Given the description of an element on the screen output the (x, y) to click on. 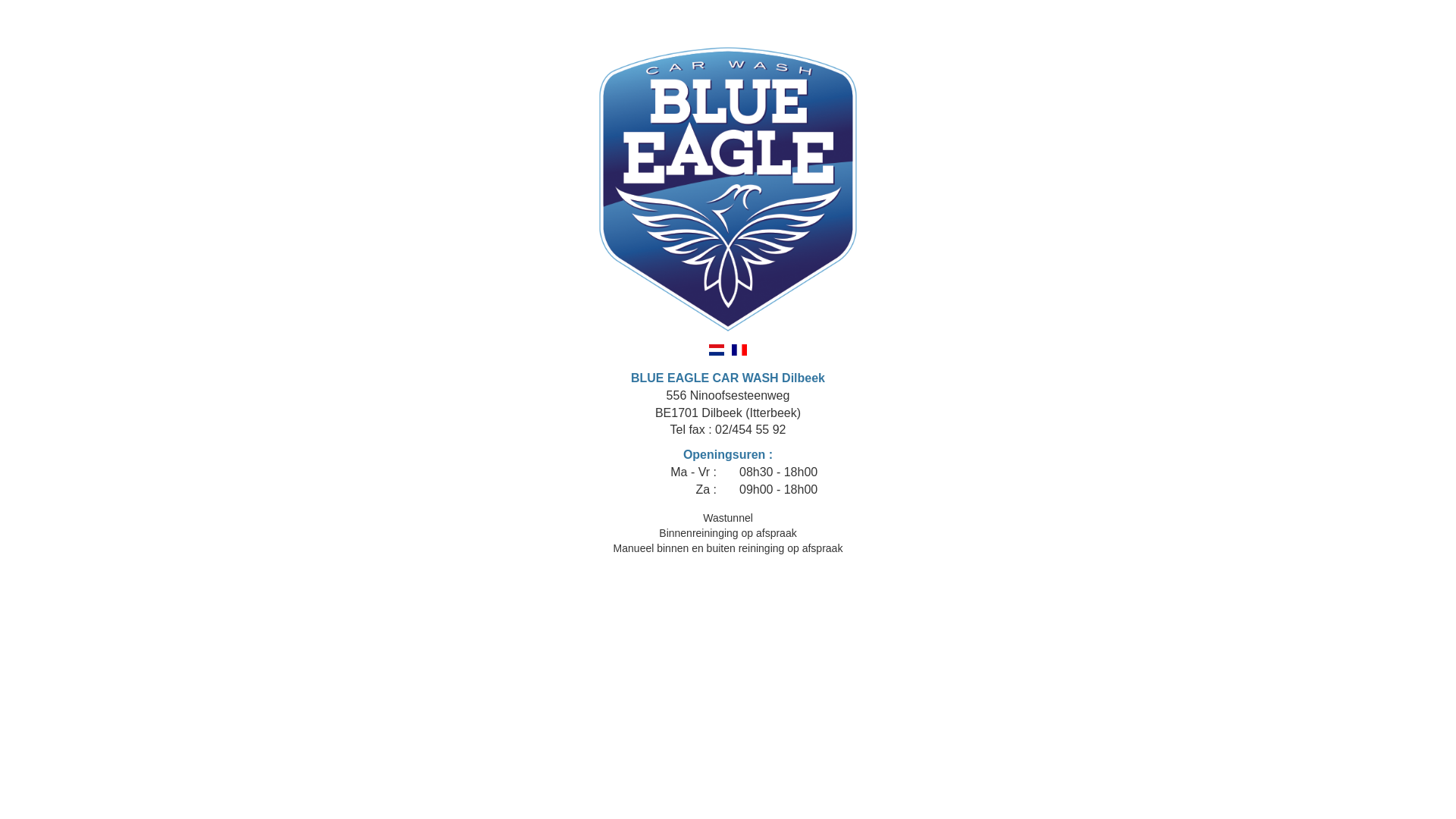
Nederlands Element type: hover (716, 349)
